Given the description of an element on the screen output the (x, y) to click on. 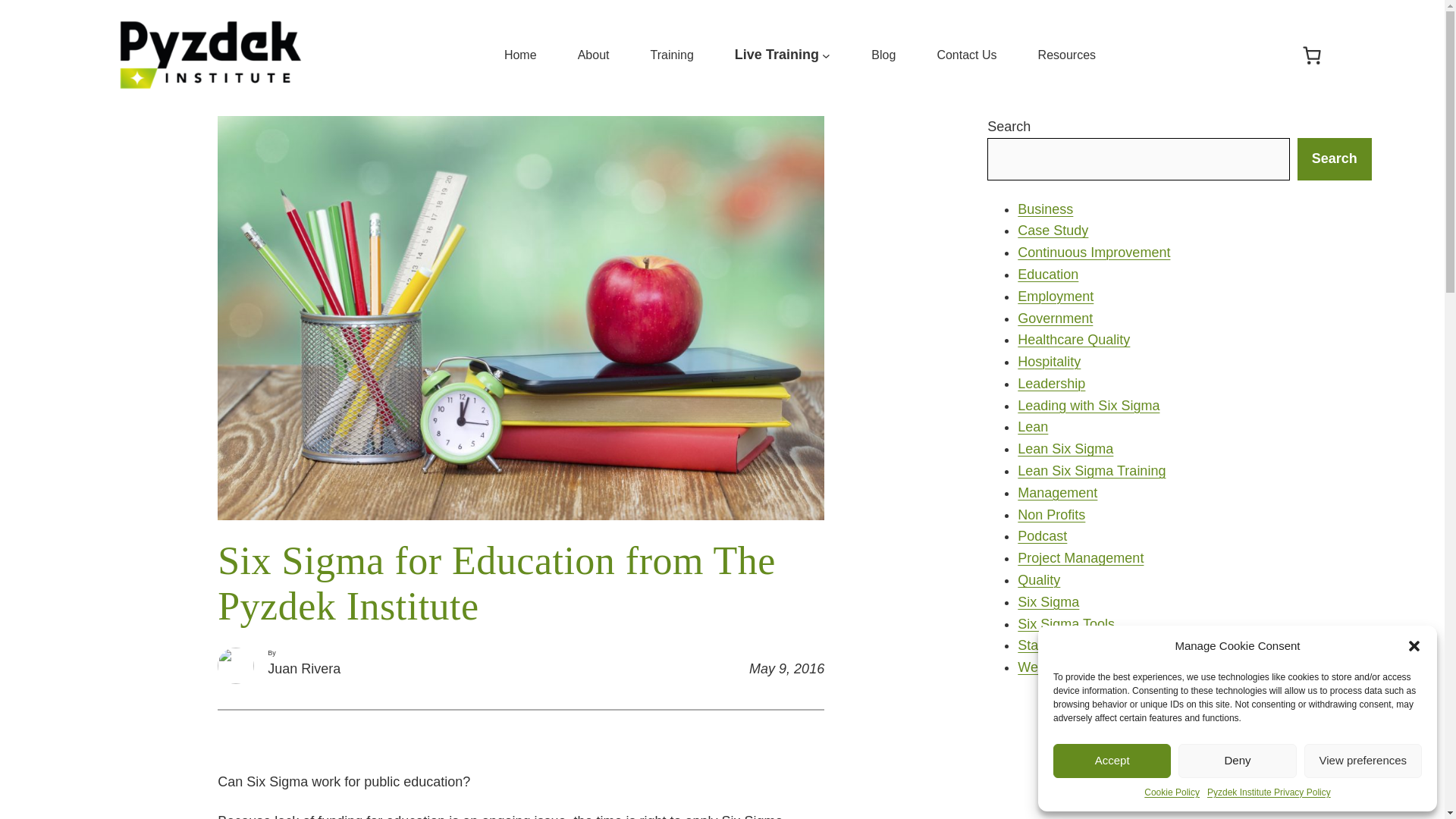
Contact Us (965, 55)
Leadership (1050, 383)
Resources (1067, 55)
Deny (1236, 760)
Healthcare Quality (1073, 339)
Education (1047, 273)
Training (672, 55)
Cookie Policy (1171, 792)
Live Training (776, 55)
Leading with Six Sigma (1087, 405)
Continuous Improvement (1093, 252)
Search (1334, 158)
Accept (1111, 760)
Blog (882, 55)
Pyzdek Institute Privacy Policy (1268, 792)
